Given the description of an element on the screen output the (x, y) to click on. 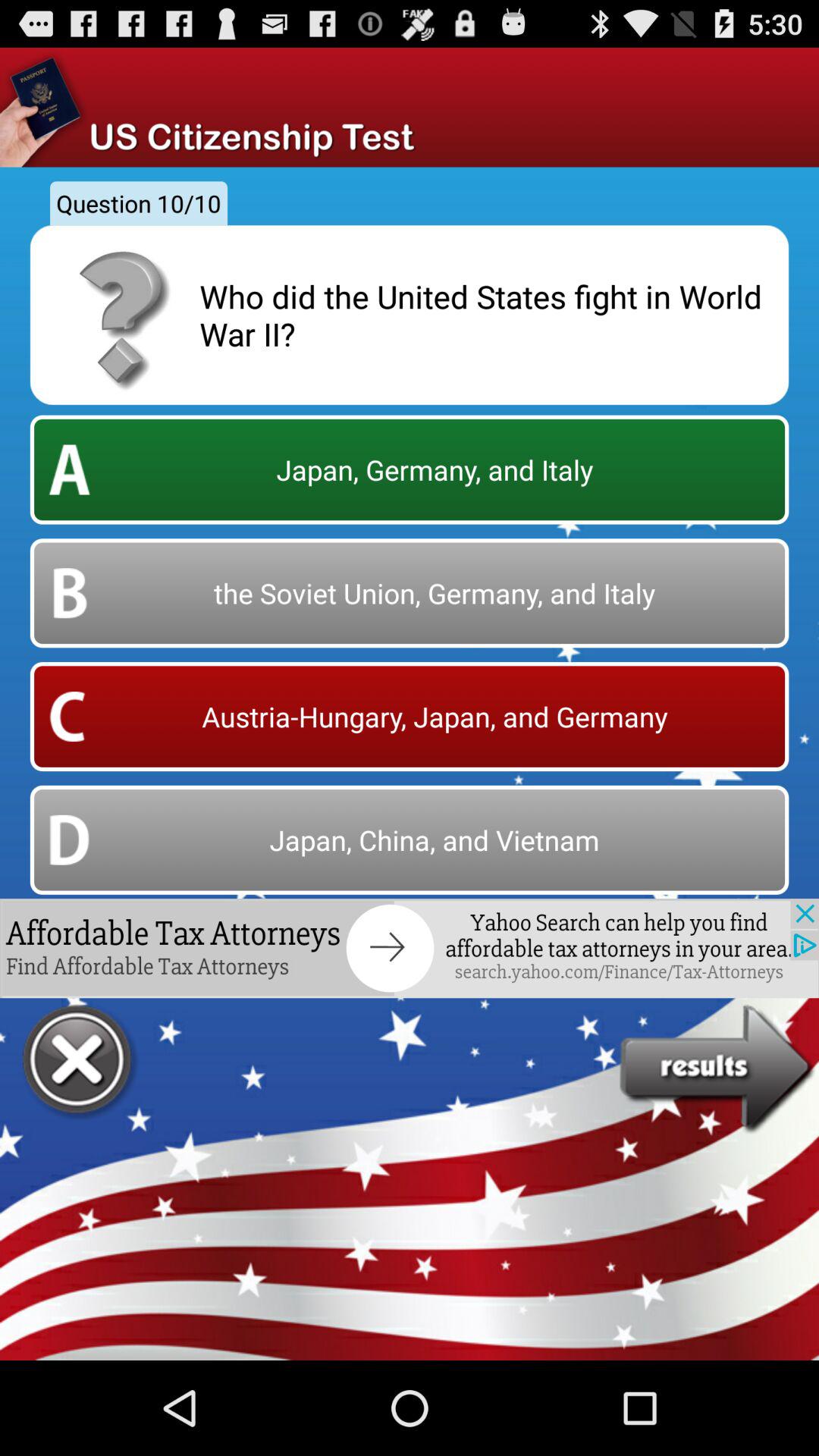
close (79, 1061)
